Given the description of an element on the screen output the (x, y) to click on. 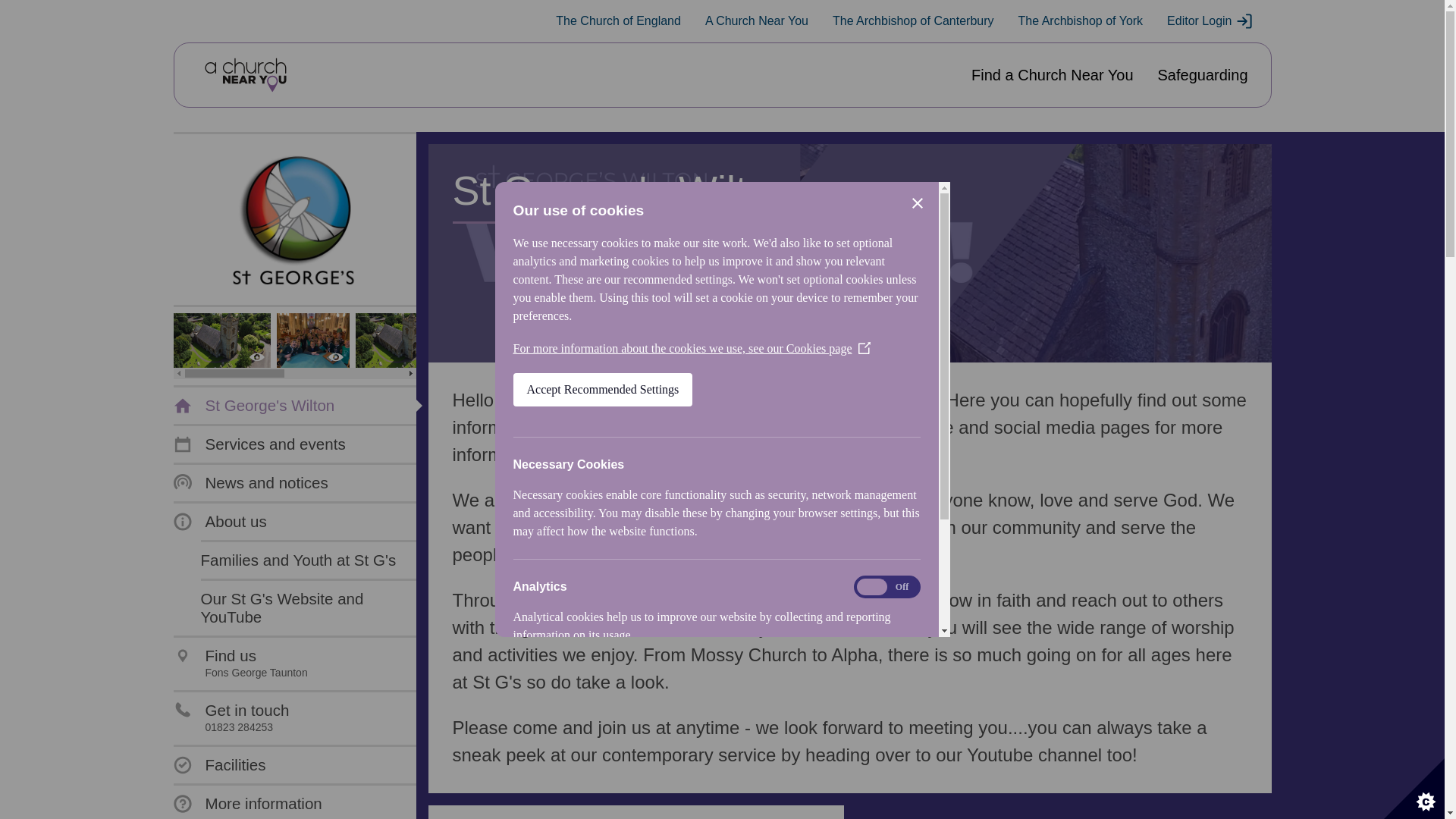
Safeguarding (1202, 75)
The Church of England (618, 21)
Find a Church Near You (1051, 75)
Editor Login (1209, 21)
The Archbishop of York (1079, 21)
A Church Near You (756, 21)
The Archbishop of Canterbury (913, 21)
Accept Recommended Settings (602, 630)
ACNY home (245, 75)
